Given the description of an element on the screen output the (x, y) to click on. 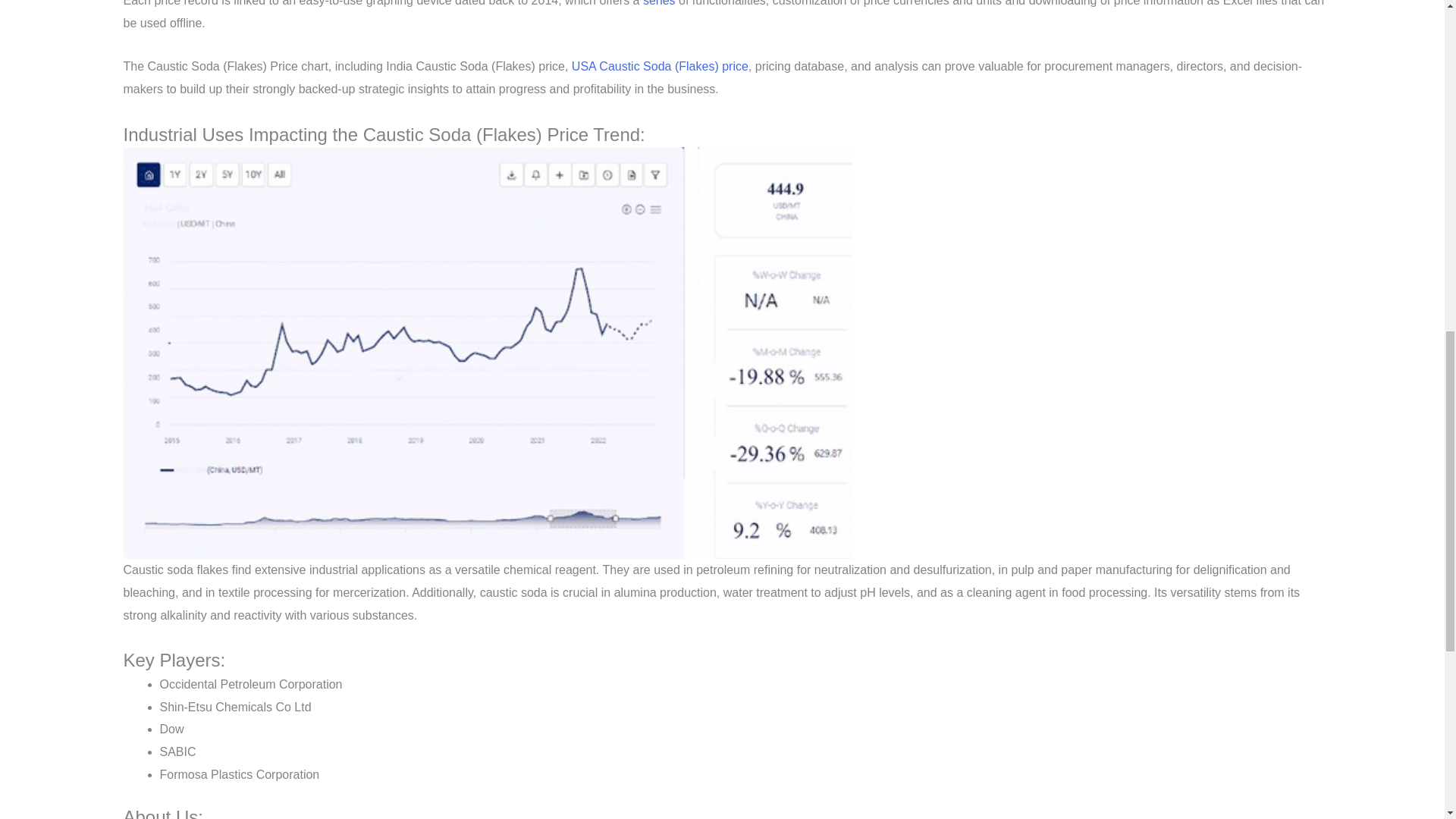
series (659, 3)
series (659, 3)
